Given the description of an element on the screen output the (x, y) to click on. 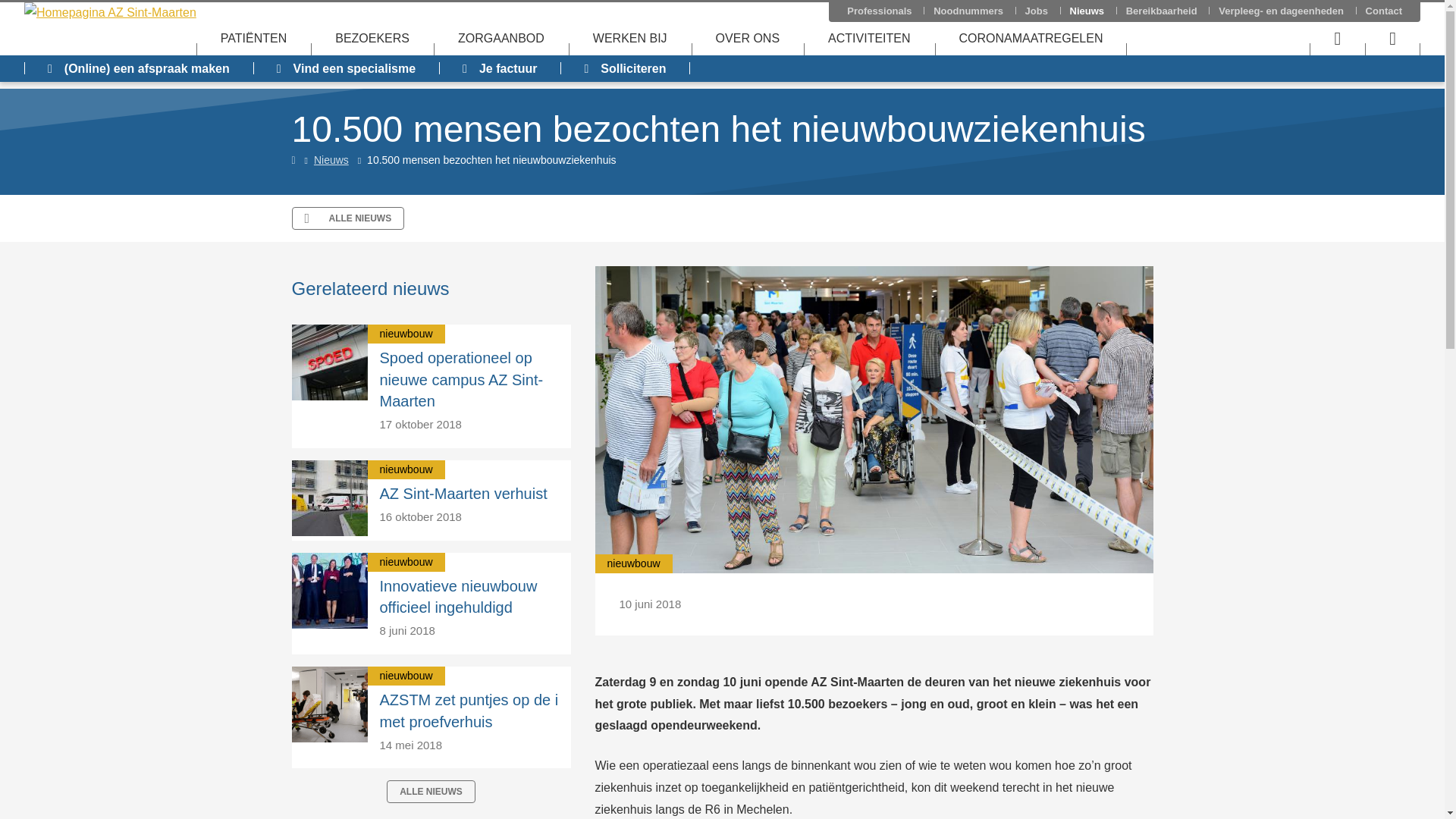
CORONAMAATREGELEN Element type: text (1031, 37)
Vind een specialisme Element type: text (345, 68)
WERKEN BIJ Element type: text (629, 37)
AZSTM zet puntjes op de i met proefverhuis Element type: text (468, 710)
User menu Element type: text (1337, 37)
Bereikbaarheid Element type: text (1161, 10)
Verpleeg- en dageenheden Element type: text (1280, 10)
Jobs Element type: text (1036, 10)
OVER ONS Element type: text (747, 37)
AZ Sint-Maarten verhuist
nieuwbouw
16 oktober 2018 Element type: text (430, 500)
Home Element type: text (294, 159)
Professionals Element type: text (879, 10)
AZ Sint-Maarten verhuist Element type: text (462, 493)
Je factuur Element type: text (499, 68)
Nieuws Element type: text (330, 159)
Innovatieve nieuwbouw officieel ingehuldigd Element type: text (457, 596)
ALLE NIEUWS Element type: text (347, 218)
BEZOEKERS Element type: text (371, 37)
ZORGAANBOD Element type: text (500, 37)
Spoed operationeel op nieuwe campus AZ Sint-Maarten Element type: text (460, 379)
ACTIVITEITEN Element type: text (868, 37)
Search menu Element type: text (1392, 37)
Contact Element type: text (1383, 10)
Solliciteren Element type: text (624, 68)
ALLE NIEUWS Element type: text (430, 791)
Noodnummers Element type: text (968, 10)
Nieuws Element type: text (1087, 10)
(Online) een afspraak maken Element type: text (138, 68)
